Given the description of an element on the screen output the (x, y) to click on. 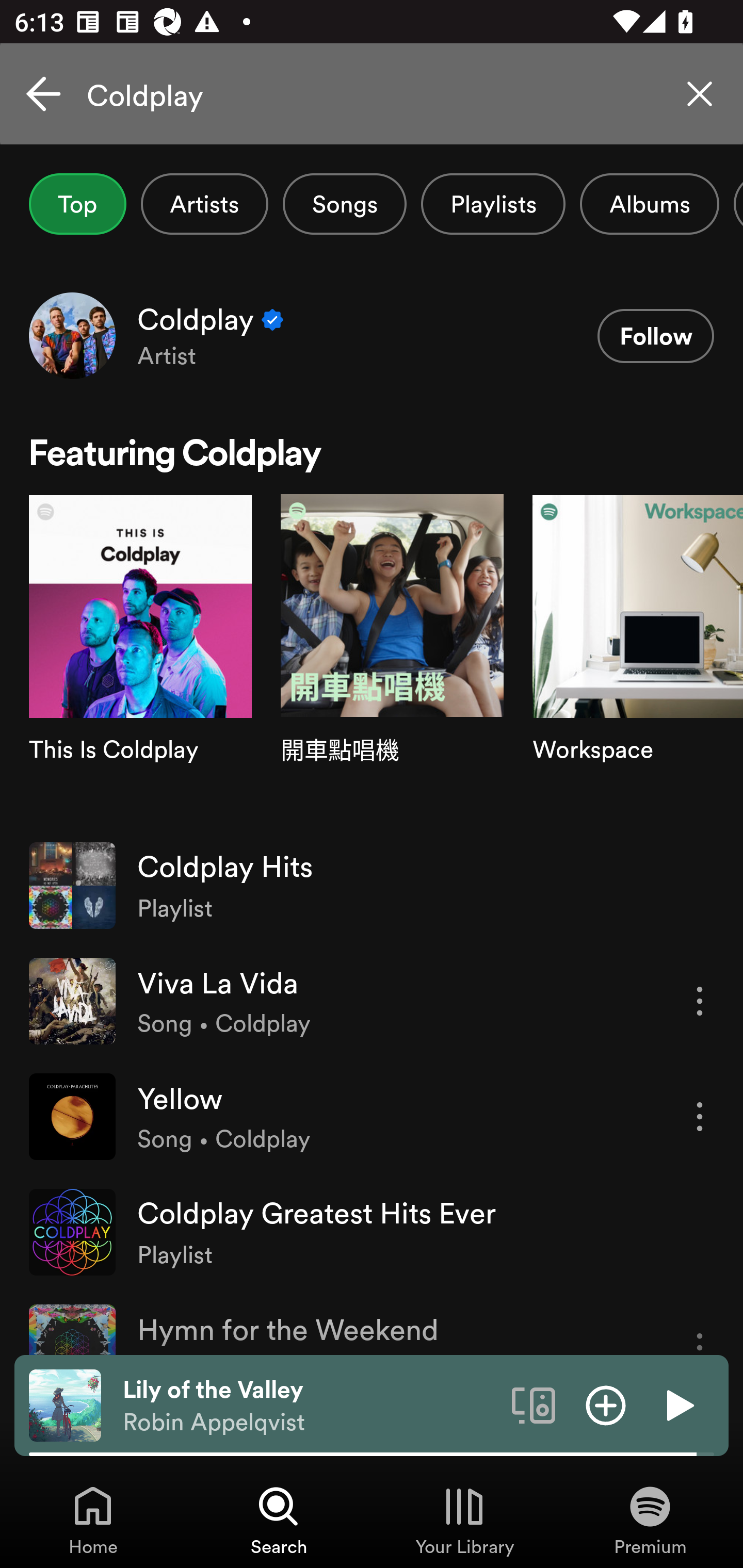
Coldplay (371, 93)
Cancel (43, 93)
Clear search query (699, 93)
Top (77, 203)
Artists (204, 203)
Songs (344, 203)
Playlists (493, 203)
Albums (649, 203)
Coldplay Verified Artist Follow Follow (371, 335)
Follow (655, 335)
Search card image This Is Coldplay (139, 660)
Search card image 開車點唱機 (391, 660)
Search card image Workspace (637, 660)
Coldplay Hits Playlist (371, 885)
More options for song Viva La Vida (699, 1001)
More options for song Yellow (699, 1117)
Coldplay Greatest Hits Ever Playlist (371, 1232)
More options for song Hymn for the Weekend (699, 1329)
Lily of the Valley Robin Appelqvist (309, 1405)
The cover art of the currently playing track (64, 1404)
Connect to a device. Opens the devices menu (533, 1404)
Add item (605, 1404)
Play (677, 1404)
Home, Tab 1 of 4 Home Home (92, 1519)
Search, Tab 2 of 4 Search Search (278, 1519)
Your Library, Tab 3 of 4 Your Library Your Library (464, 1519)
Premium, Tab 4 of 4 Premium Premium (650, 1519)
